Given the description of an element on the screen output the (x, y) to click on. 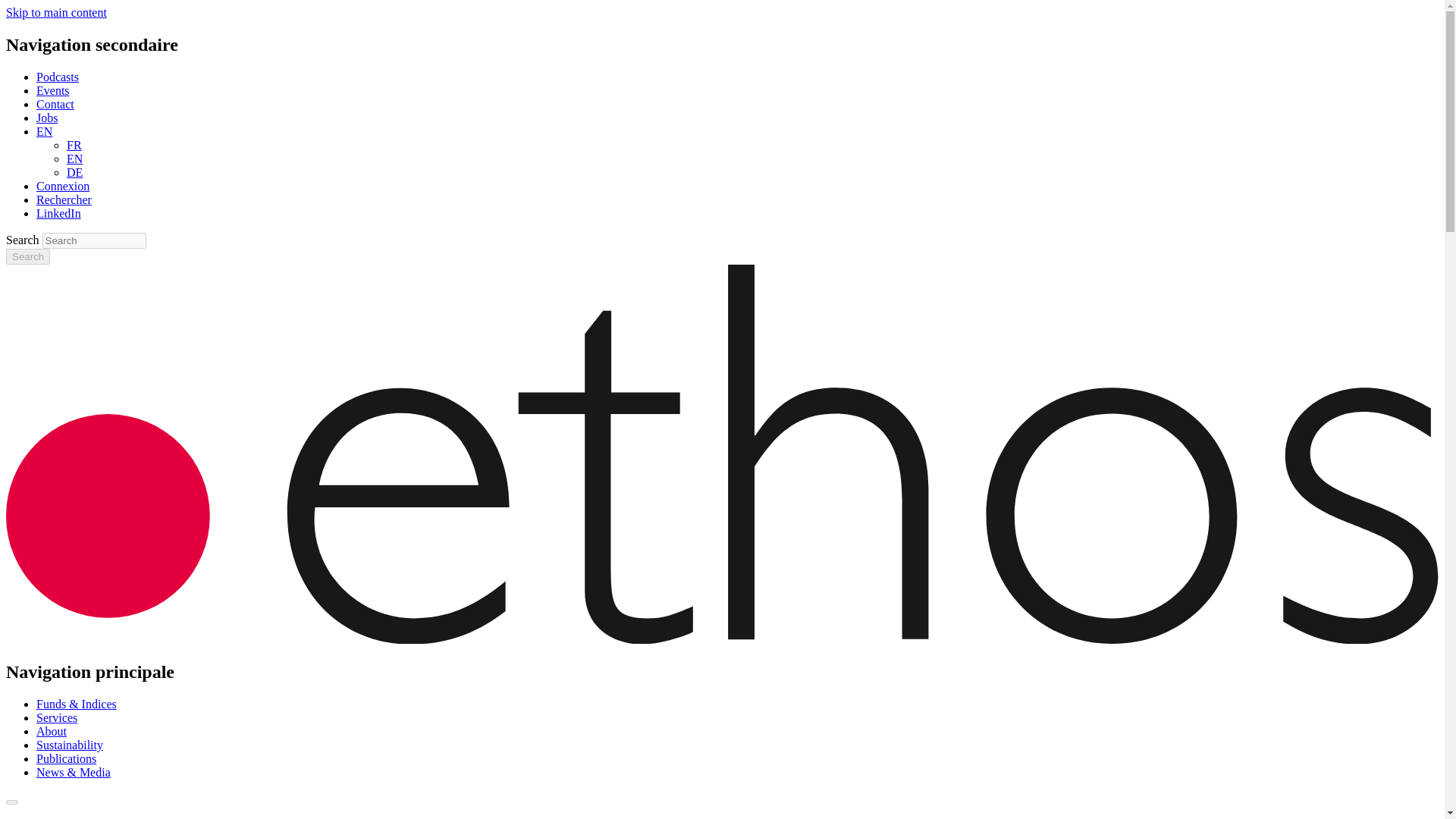
Publications (66, 758)
Services (56, 717)
Sustainability (69, 744)
Jobs (47, 117)
Skip to main content (55, 11)
Contact (55, 103)
Enter the terms you wish to search for. (94, 240)
About (51, 730)
EN (74, 158)
Events (52, 90)
Search (27, 256)
Connexion (62, 185)
DE (74, 172)
LinkedIn (58, 213)
Rechercher (63, 199)
